Given the description of an element on the screen output the (x, y) to click on. 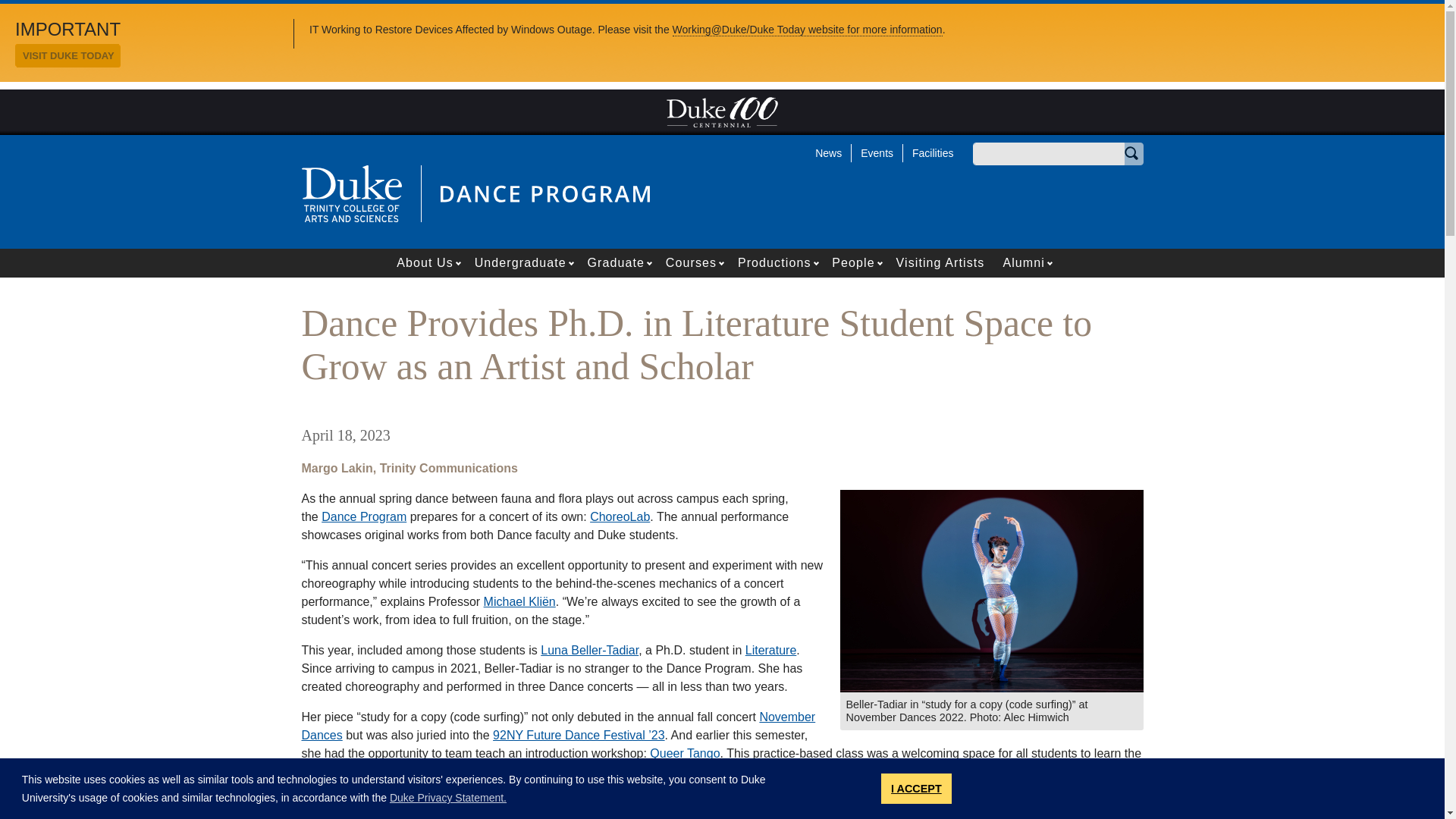
I ACCEPT (916, 788)
Duke Privacy Statement. (448, 797)
Duke University - Trinity College of Arts and Sciences (351, 192)
